Given the description of an element on the screen output the (x, y) to click on. 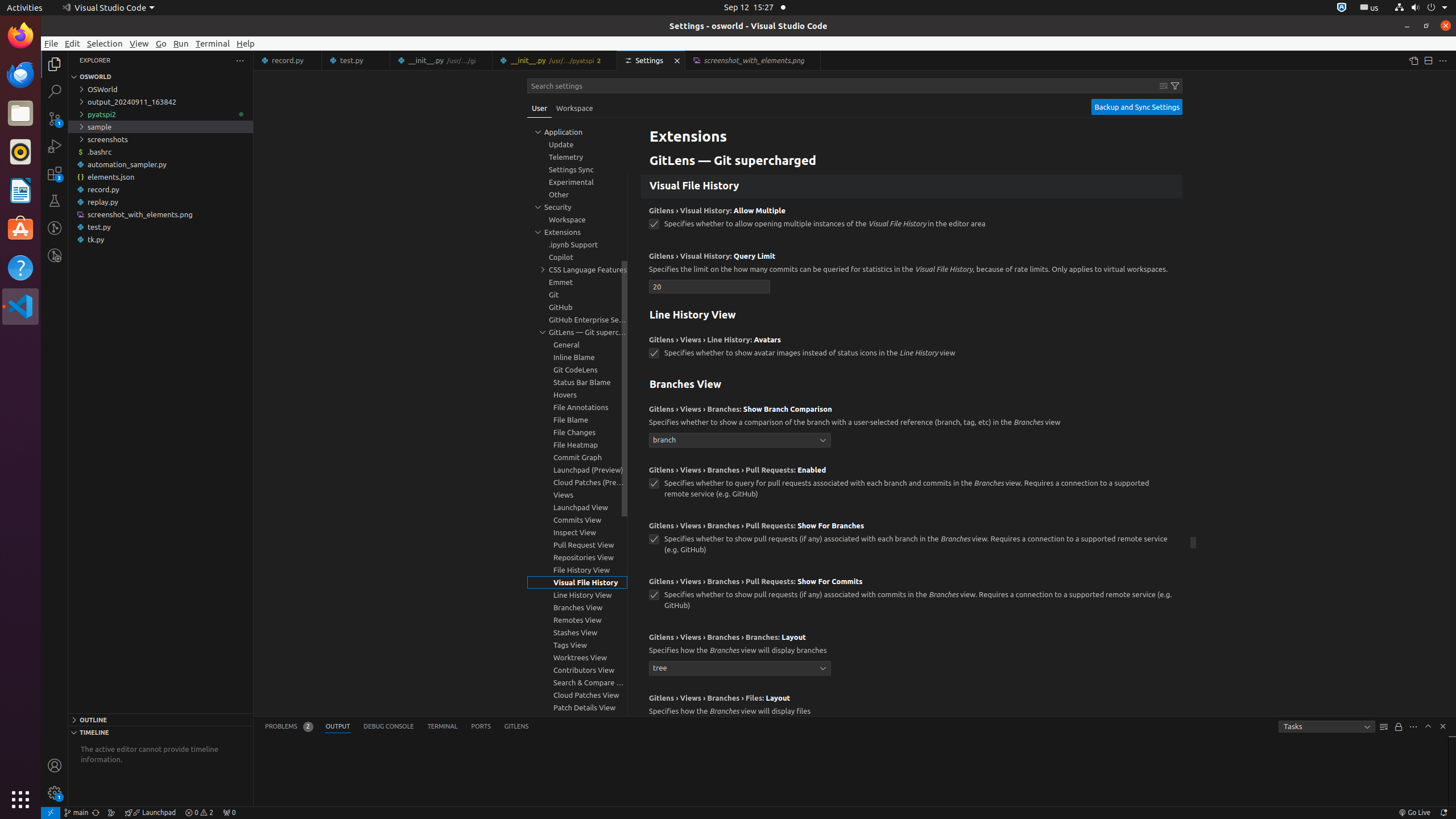
Gitlens › Advanced File History Show All Branches. Specifies whether file histories will show commits from all branches  Element type: tree-item (911, 106)
Security, group Element type: tree-item (577, 206)
gitlens.views.branches.pullRequests.showForCommits Element type: check-box (653, 594)
Timeline Section Element type: push-button (160, 731)
User Element type: check-box (539, 107)
